Given the description of an element on the screen output the (x, y) to click on. 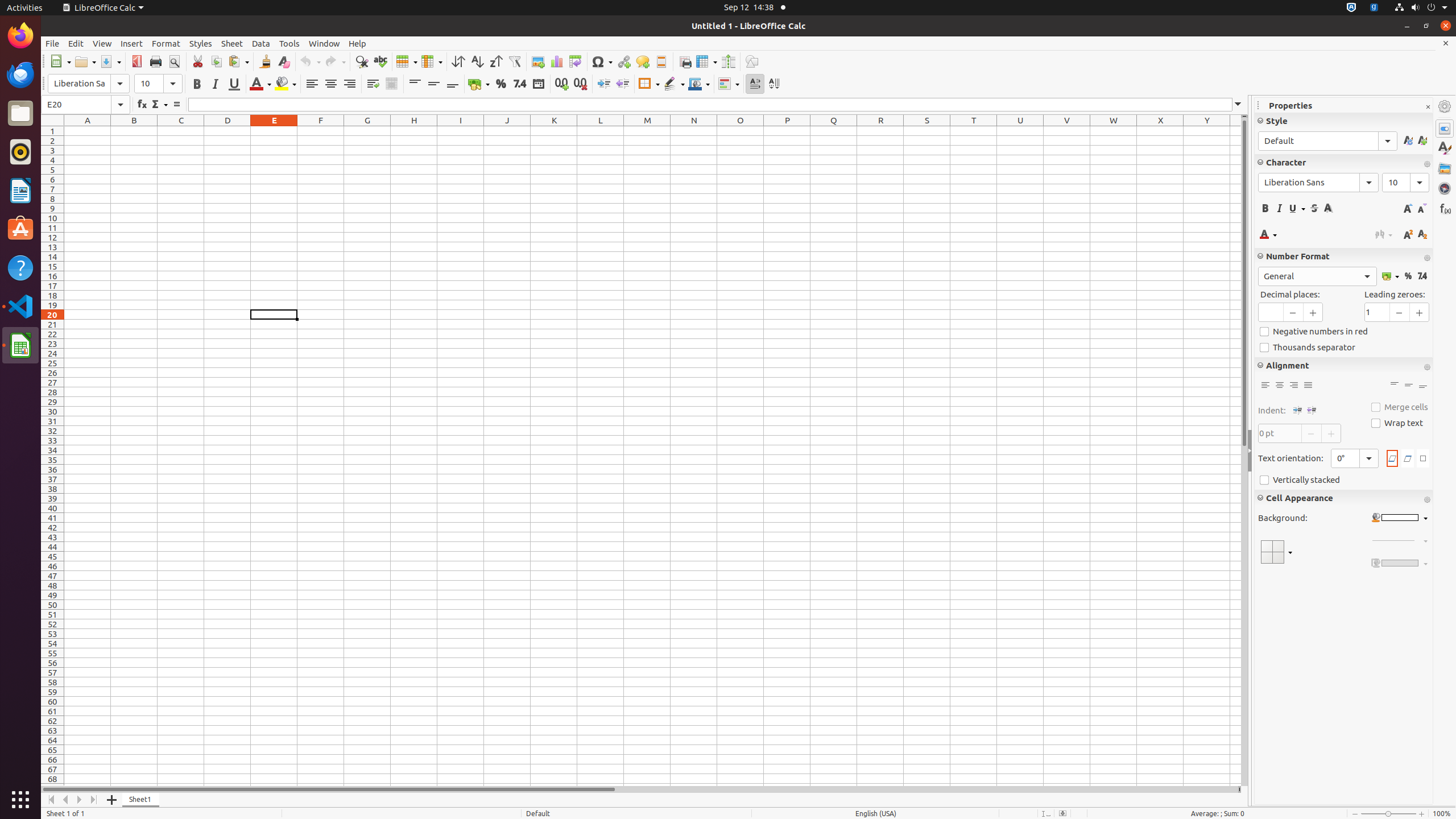
AutoFilter Element type: push-button (514, 61)
Hyperlink Element type: toggle-button (623, 61)
Decrease Element type: push-button (622, 83)
Find & Replace Element type: toggle-button (361, 61)
Move Right Element type: push-button (79, 799)
